Given the description of an element on the screen output the (x, y) to click on. 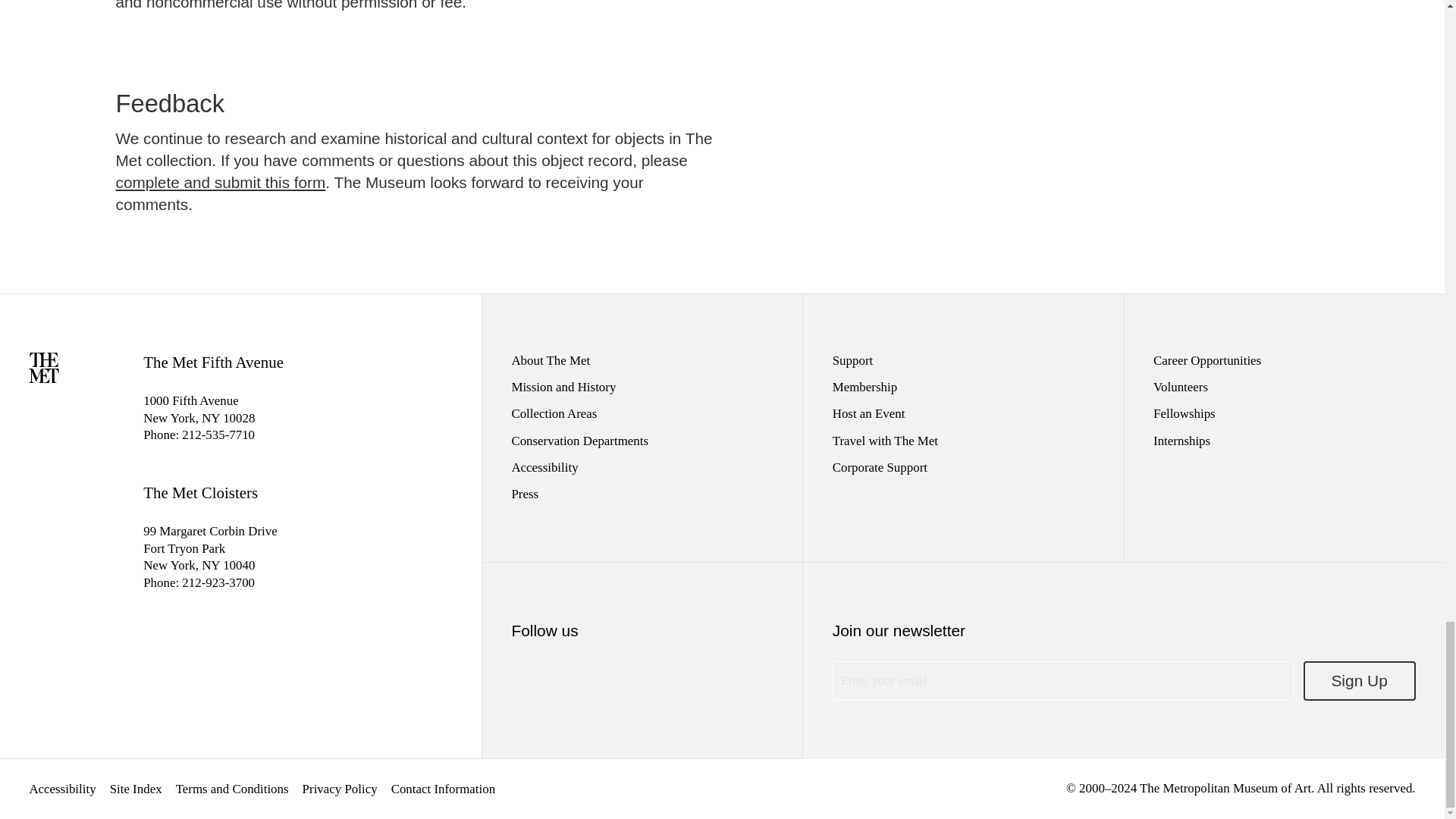
Homepage (44, 377)
